Given the description of an element on the screen output the (x, y) to click on. 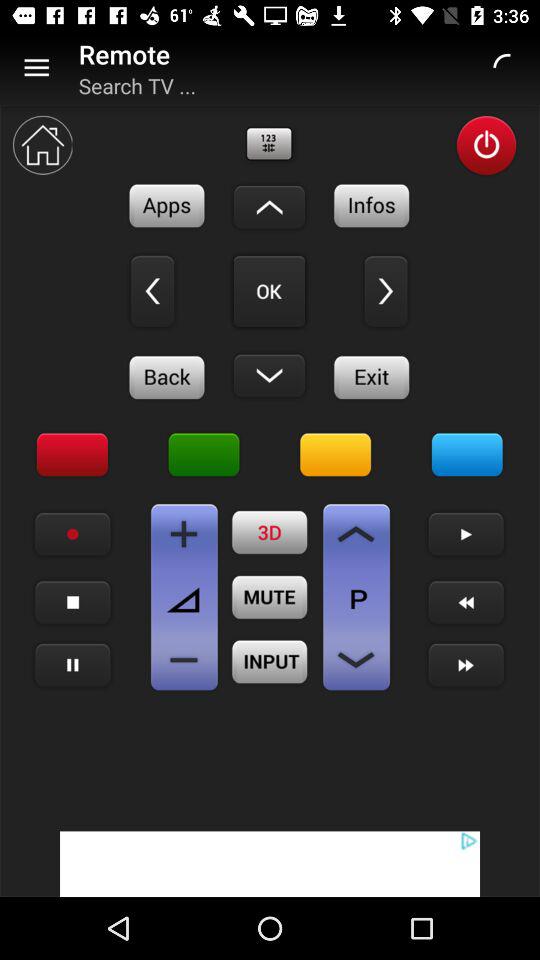
go home (42, 145)
